Given the description of an element on the screen output the (x, y) to click on. 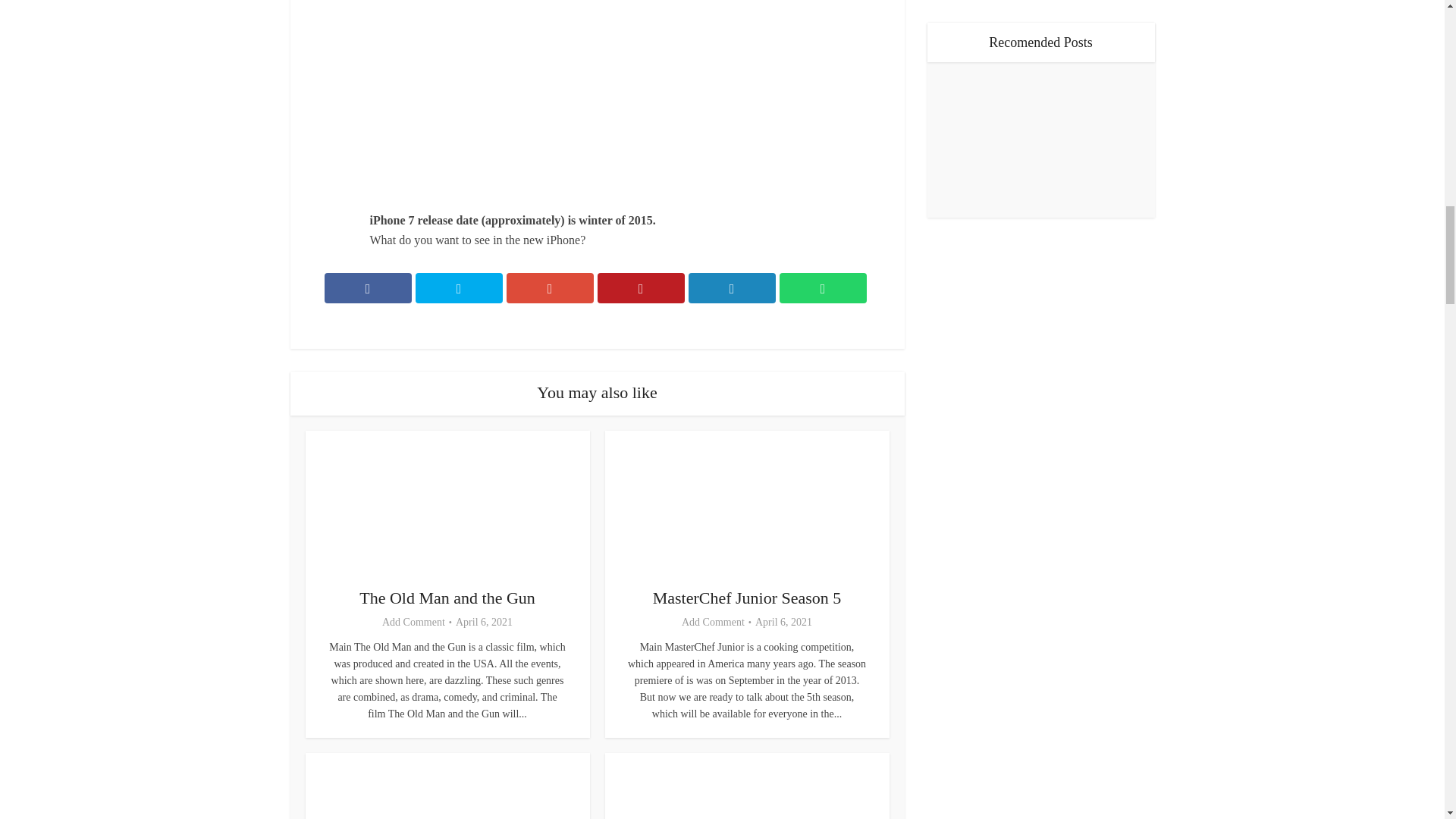
MasterChef Junior Season 5 (746, 597)
Add Comment (712, 622)
Add Comment (413, 622)
The Old Man and the Gun (447, 597)
The Old Man and the Gun (447, 597)
MasterChef Junior Season 5 (746, 597)
